Given the description of an element on the screen output the (x, y) to click on. 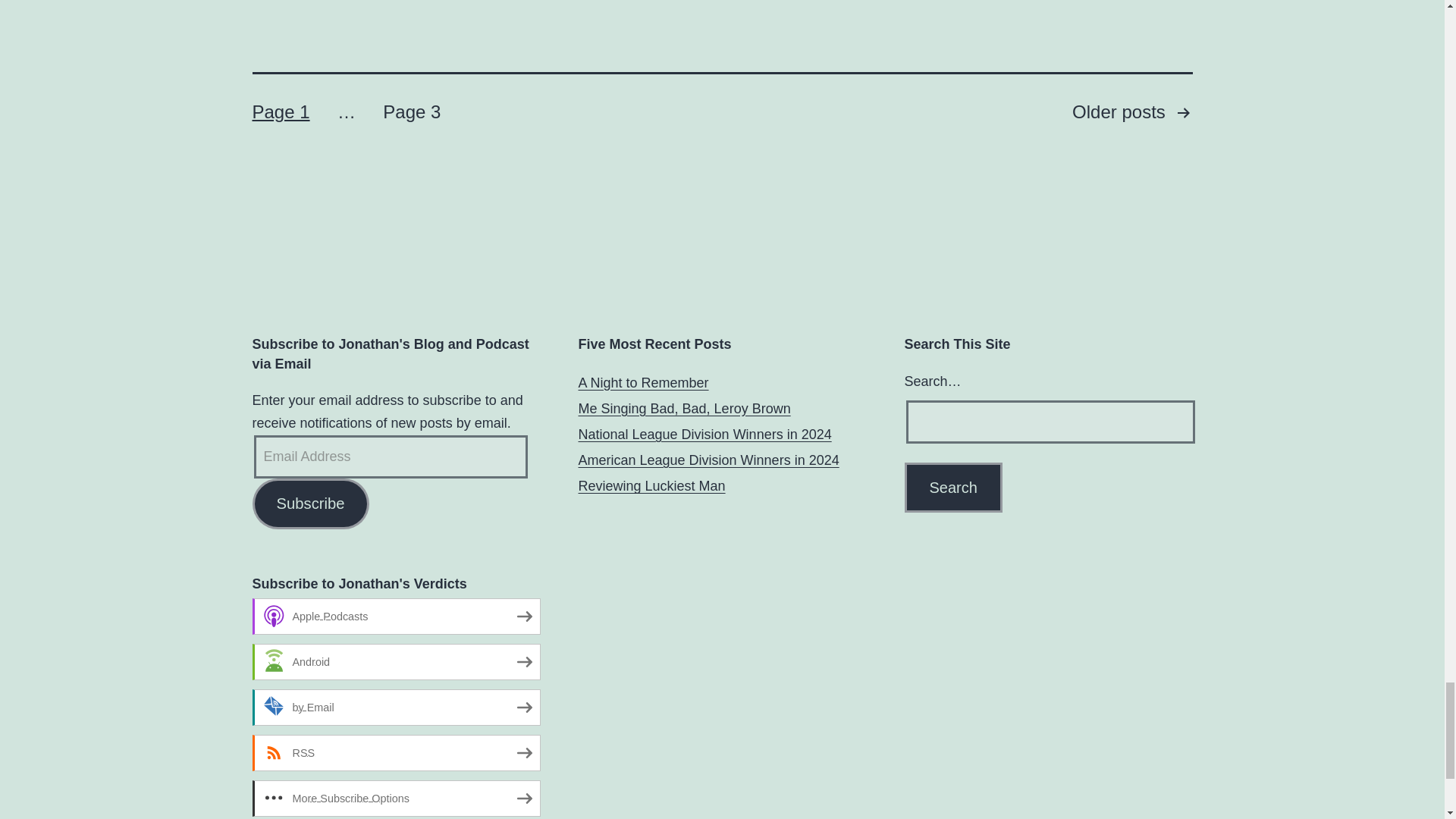
Subscribe via RSS (395, 752)
More Subscribe Options (395, 798)
Search (952, 487)
Subscribe on Apple Podcasts (395, 616)
Subscribe on Android (395, 661)
Subscribe by Email (395, 707)
Search (952, 487)
